Given the description of an element on the screen output the (x, y) to click on. 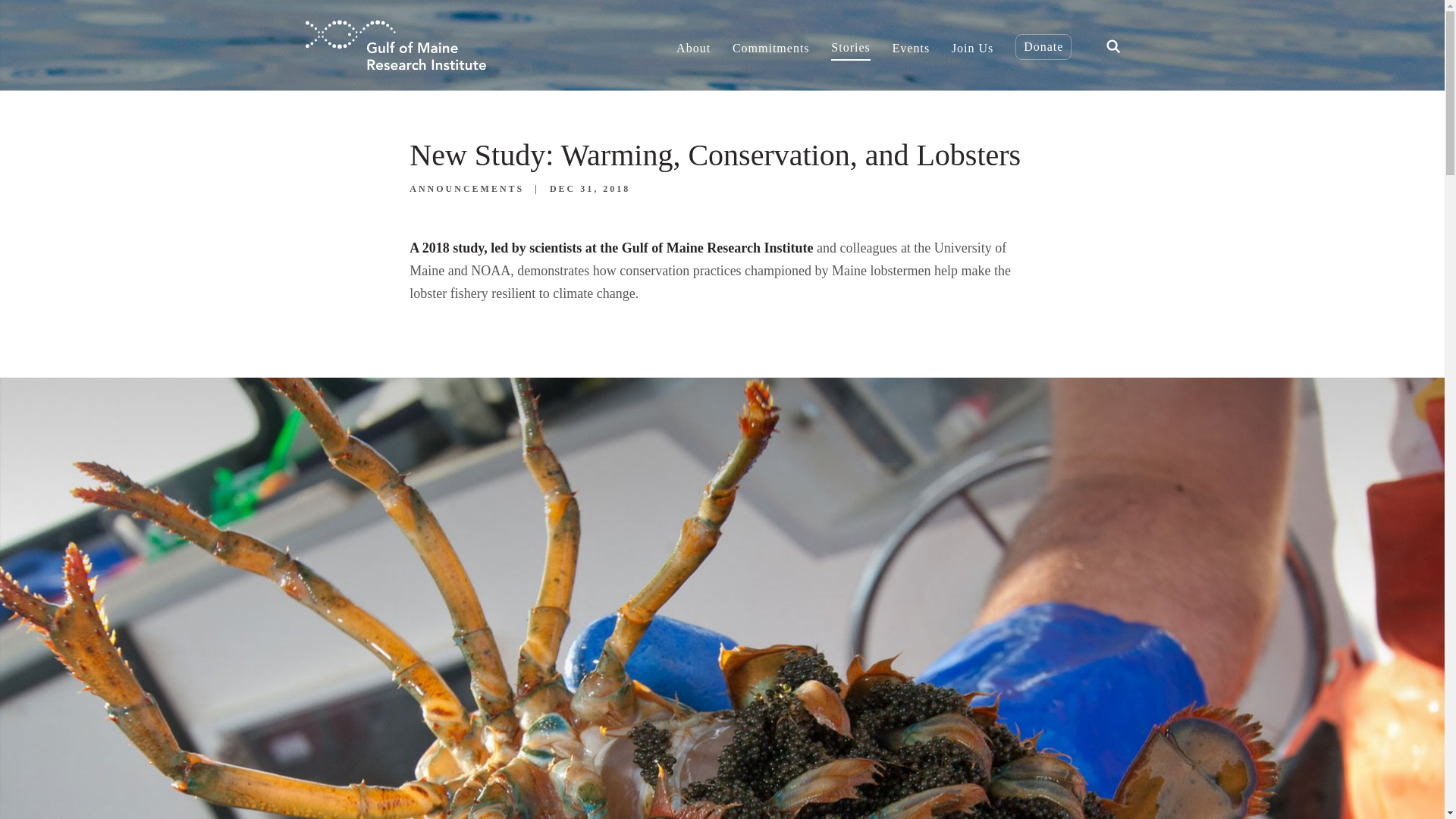
Commitments (770, 44)
Search A magnifying glass (1112, 45)
Skip to main content (56, 6)
Join Us (972, 44)
About (693, 44)
Events (911, 44)
Donate (1042, 46)
Search A magnifying glass (1112, 46)
Stories (850, 45)
